Given the description of an element on the screen output the (x, y) to click on. 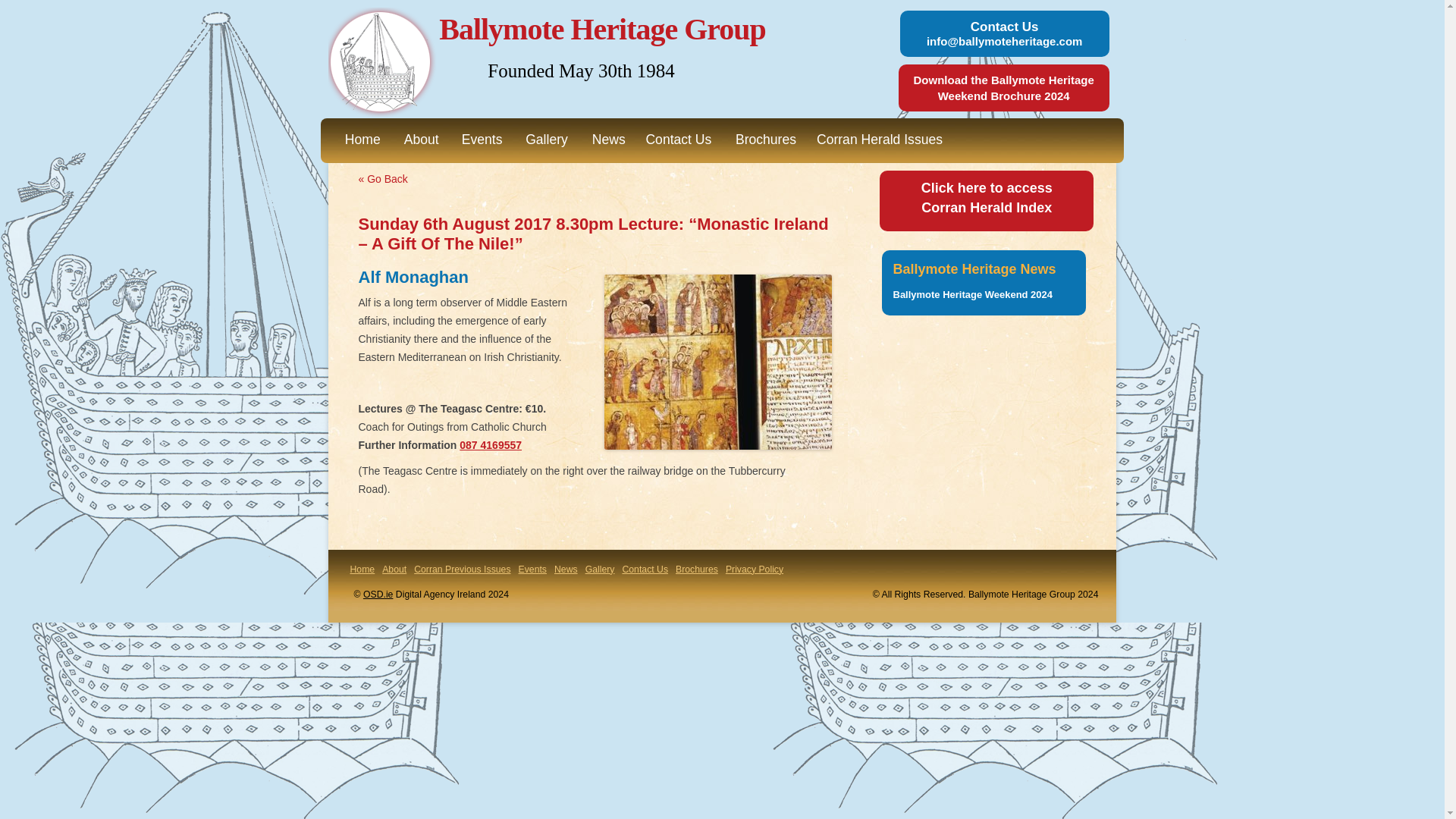
Ballymote Heritage Group Sligo (602, 29)
Contact Us (678, 139)
Home (362, 569)
News (608, 139)
Download the Ballymote Heritage Weekend Brochure 2024 (1002, 87)
Skip to content (757, 122)
OSD Digital Agency Ireland (377, 593)
News (986, 197)
Corran Previous Issues (566, 569)
